Given the description of an element on the screen output the (x, y) to click on. 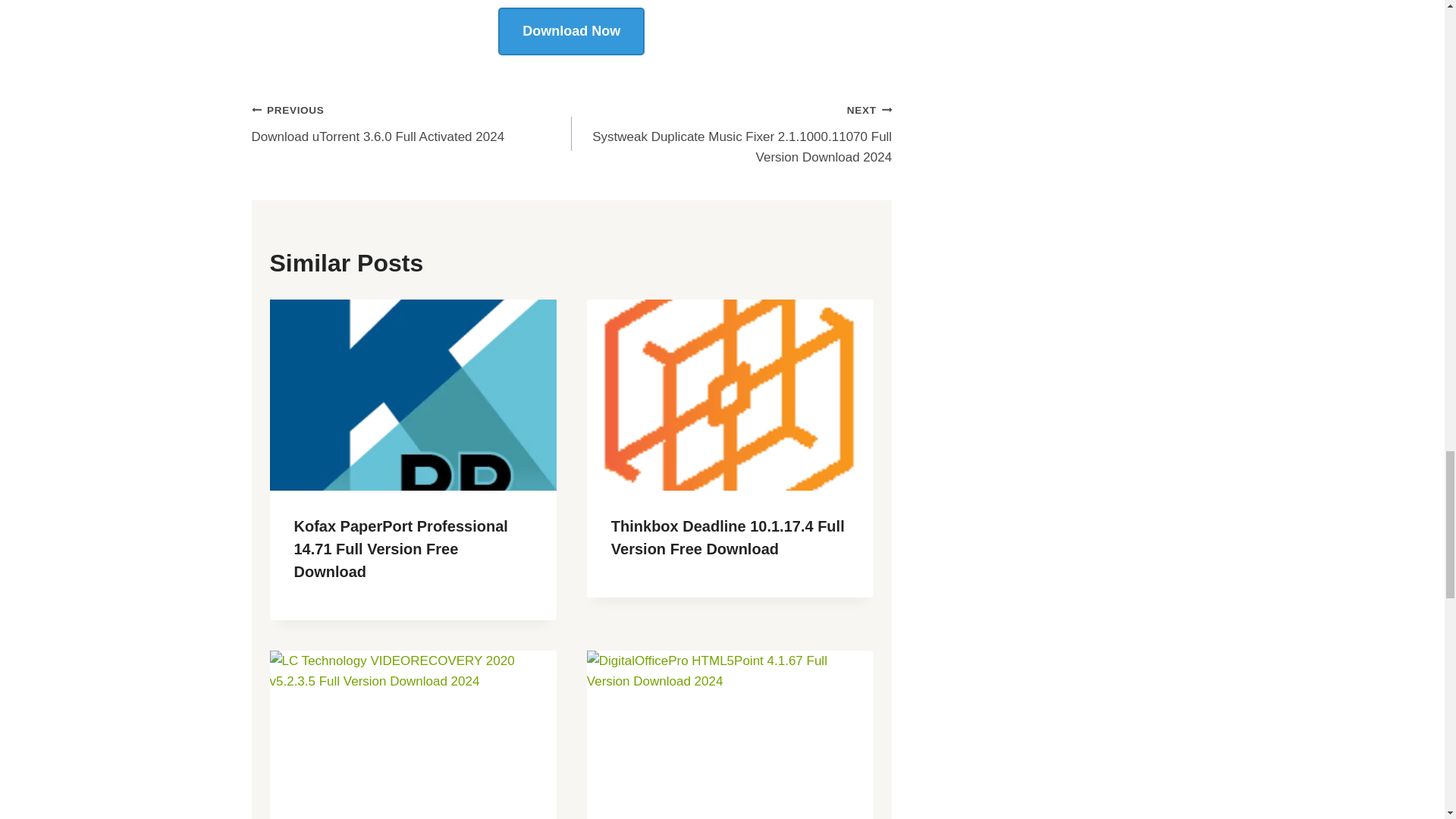
Thinkbox Deadline 10.1.17.4 Full Version Free Download (727, 537)
Download Now (411, 123)
